Given the description of an element on the screen output the (x, y) to click on. 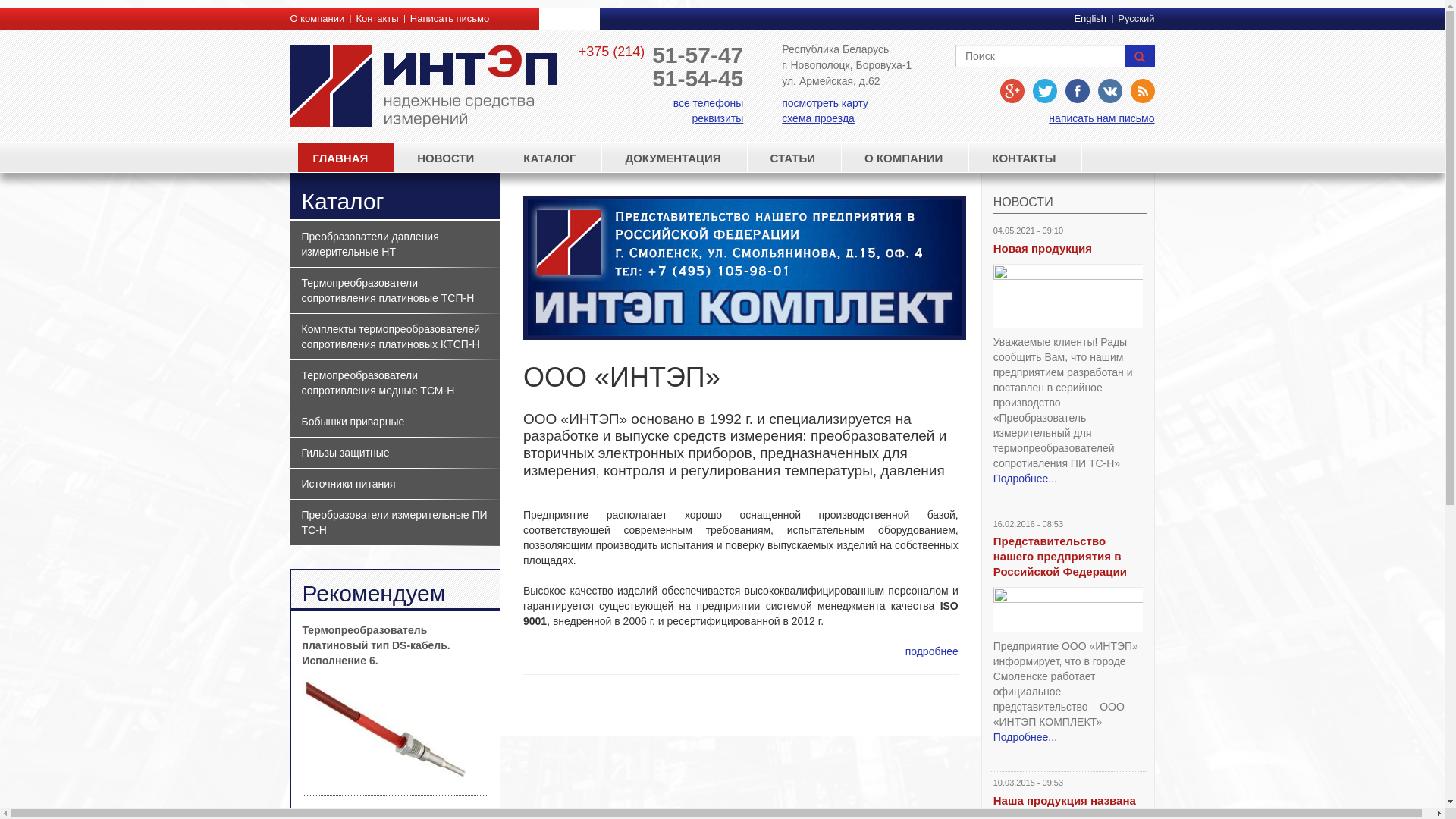
English Element type: text (1089, 18)
51-57-47 Element type: text (697, 54)
51-54-45 Element type: text (697, 78)
